Given the description of an element on the screen output the (x, y) to click on. 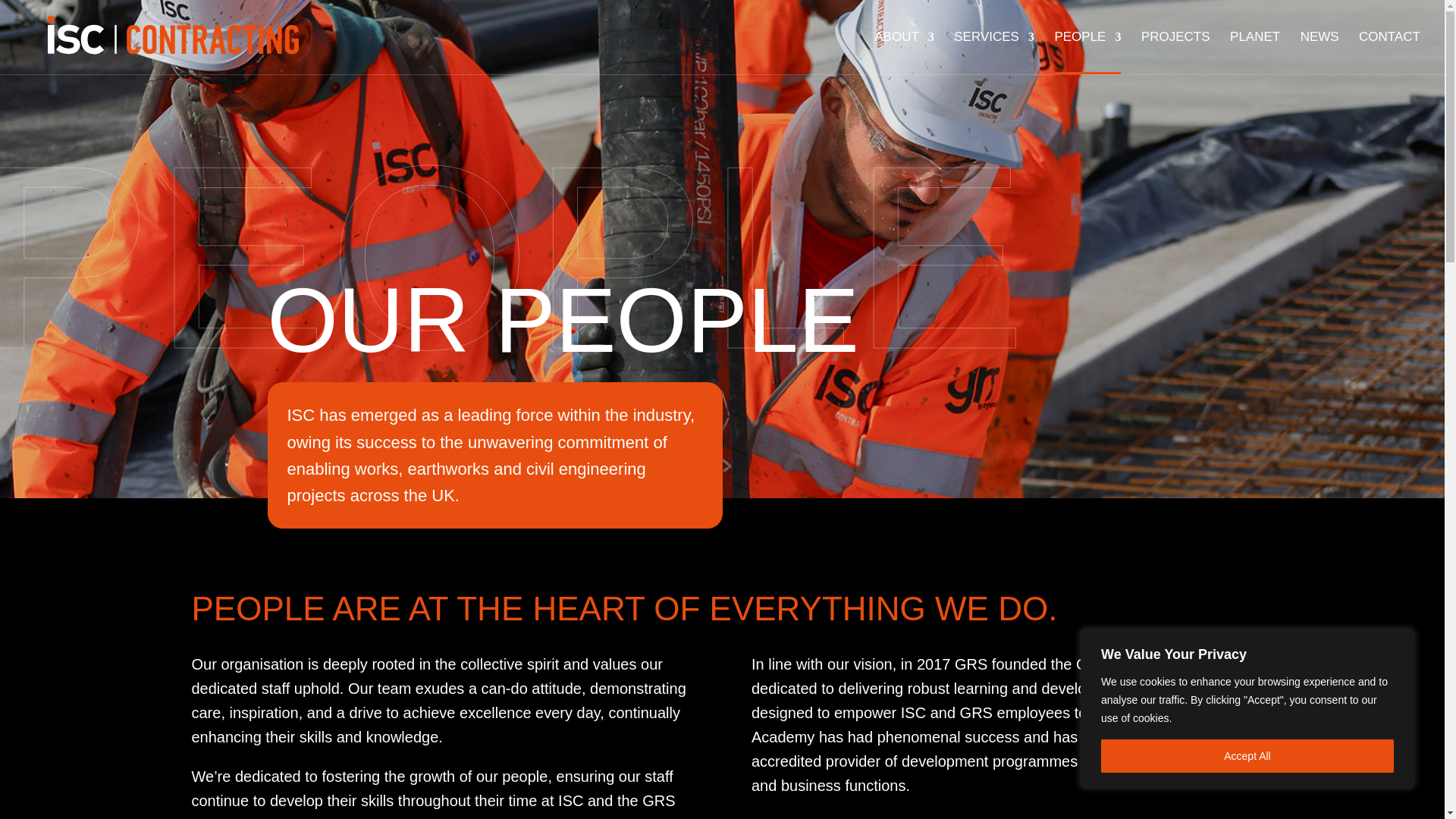
PLANET (1254, 52)
PEOPLE (1087, 52)
SERVICES (993, 52)
ABOUT (904, 52)
Accept All (1246, 756)
PROJECTS (1175, 52)
NEWS (1319, 52)
CONTACT (1389, 52)
